Given the description of an element on the screen output the (x, y) to click on. 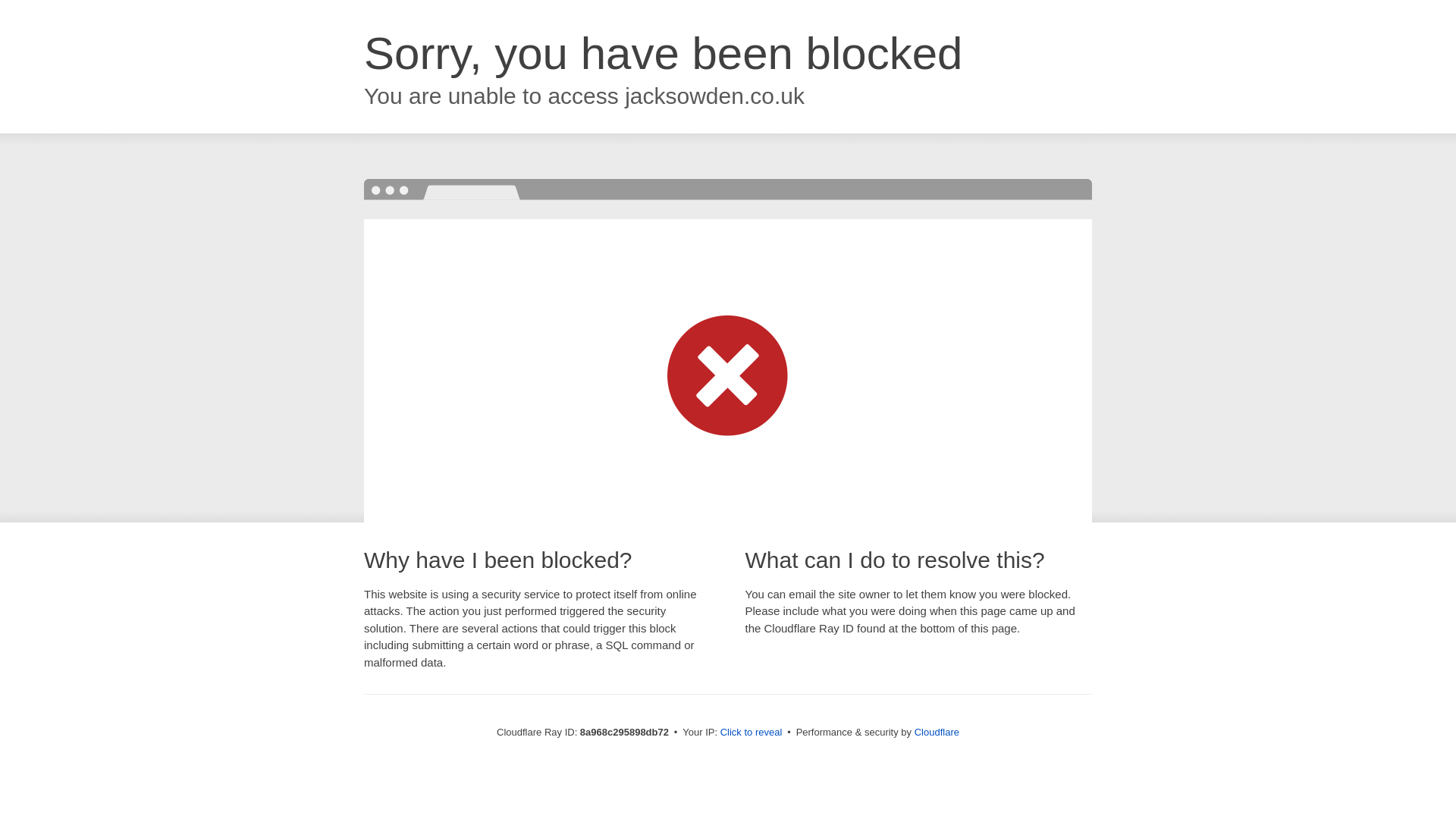
Cloudflare (936, 731)
Click to reveal (751, 732)
